Given the description of an element on the screen output the (x, y) to click on. 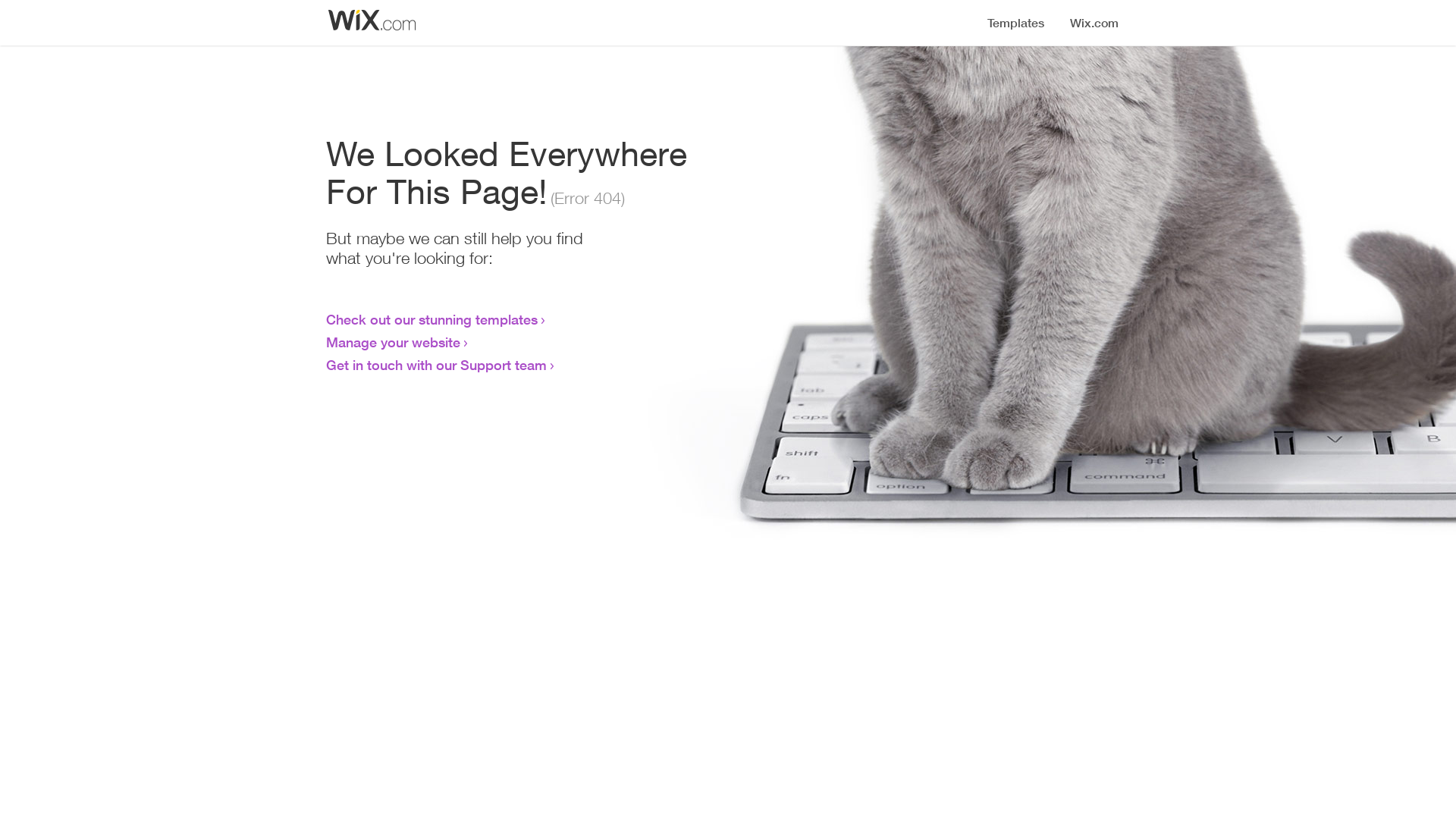
Get in touch with our Support team Element type: text (436, 364)
Manage your website Element type: text (393, 341)
Check out our stunning templates Element type: text (431, 318)
